Given the description of an element on the screen output the (x, y) to click on. 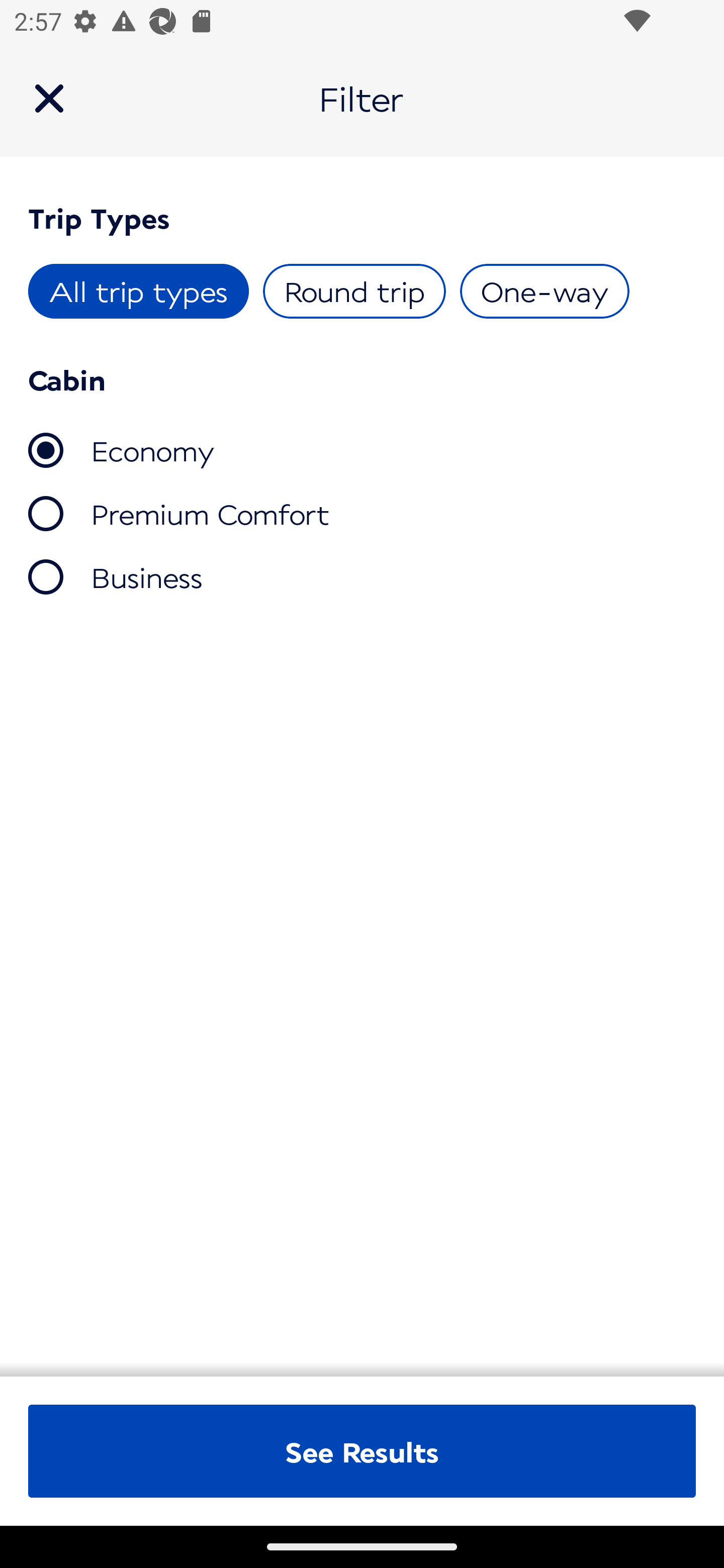
All trip types (138, 291)
Round trip (353, 291)
One-way (544, 291)
See Results (361, 1450)
